Given the description of an element on the screen output the (x, y) to click on. 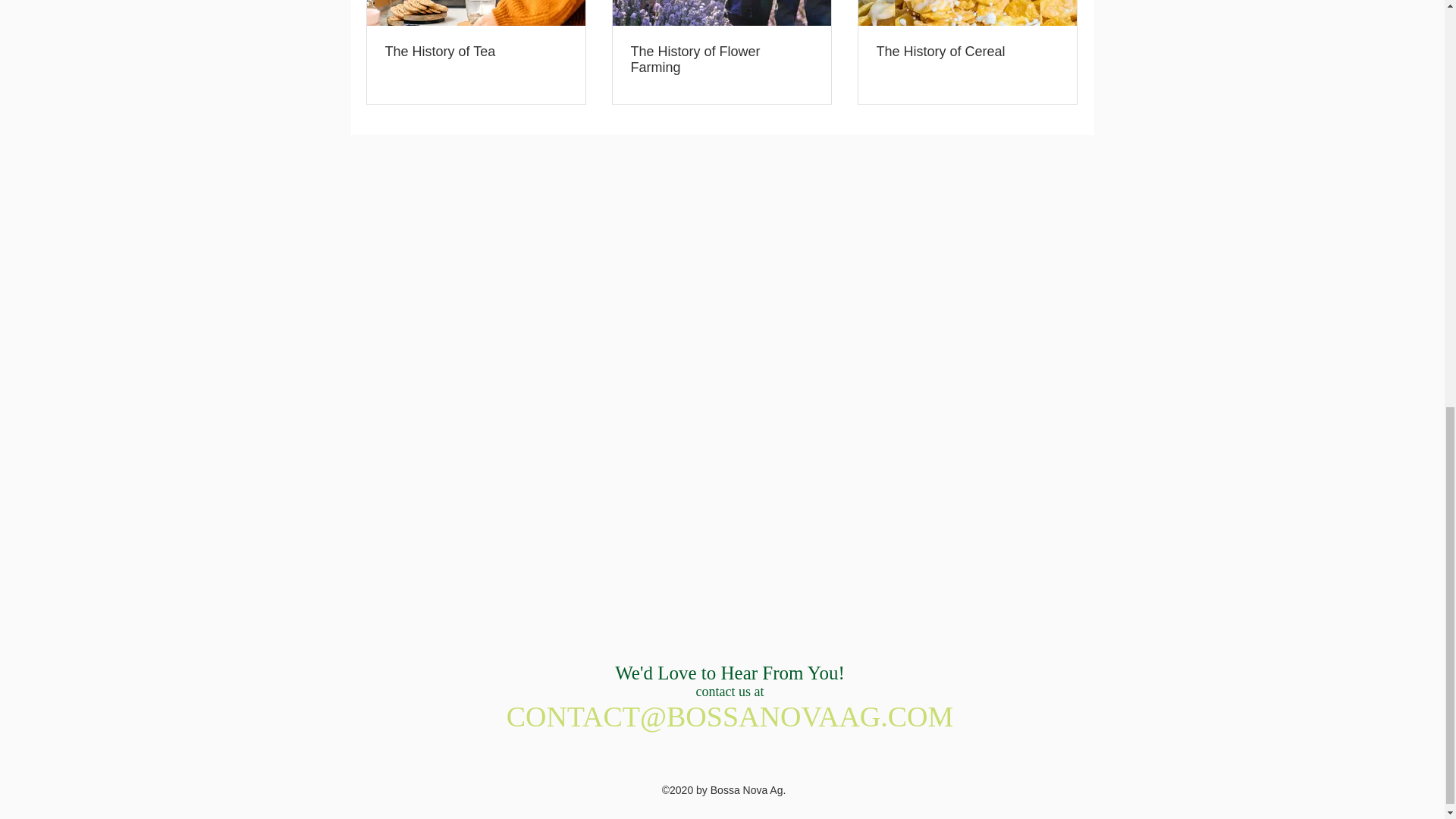
The History of Tea (476, 51)
The History of Cereal (967, 51)
The History of Flower Farming (721, 60)
